Given the description of an element on the screen output the (x, y) to click on. 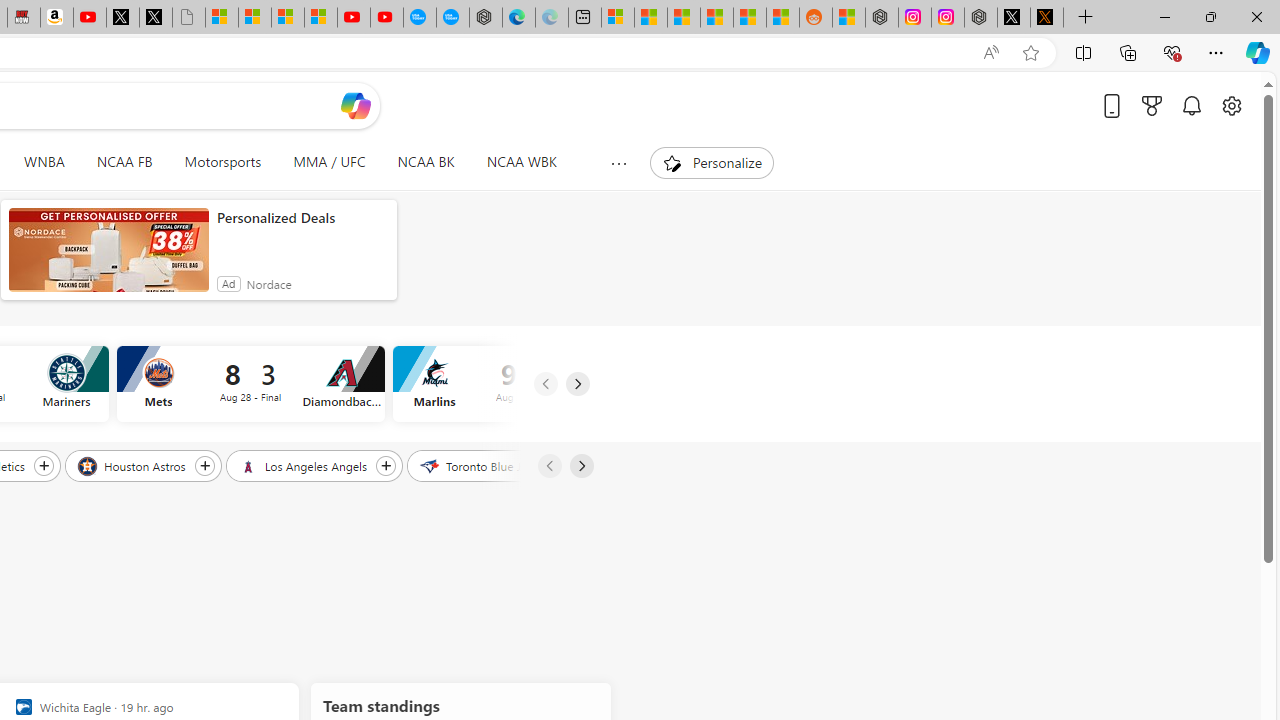
Next (580, 465)
Motorsports (222, 162)
Personalized Deals (302, 218)
NCAA BK (426, 162)
